Given the description of an element on the screen output the (x, y) to click on. 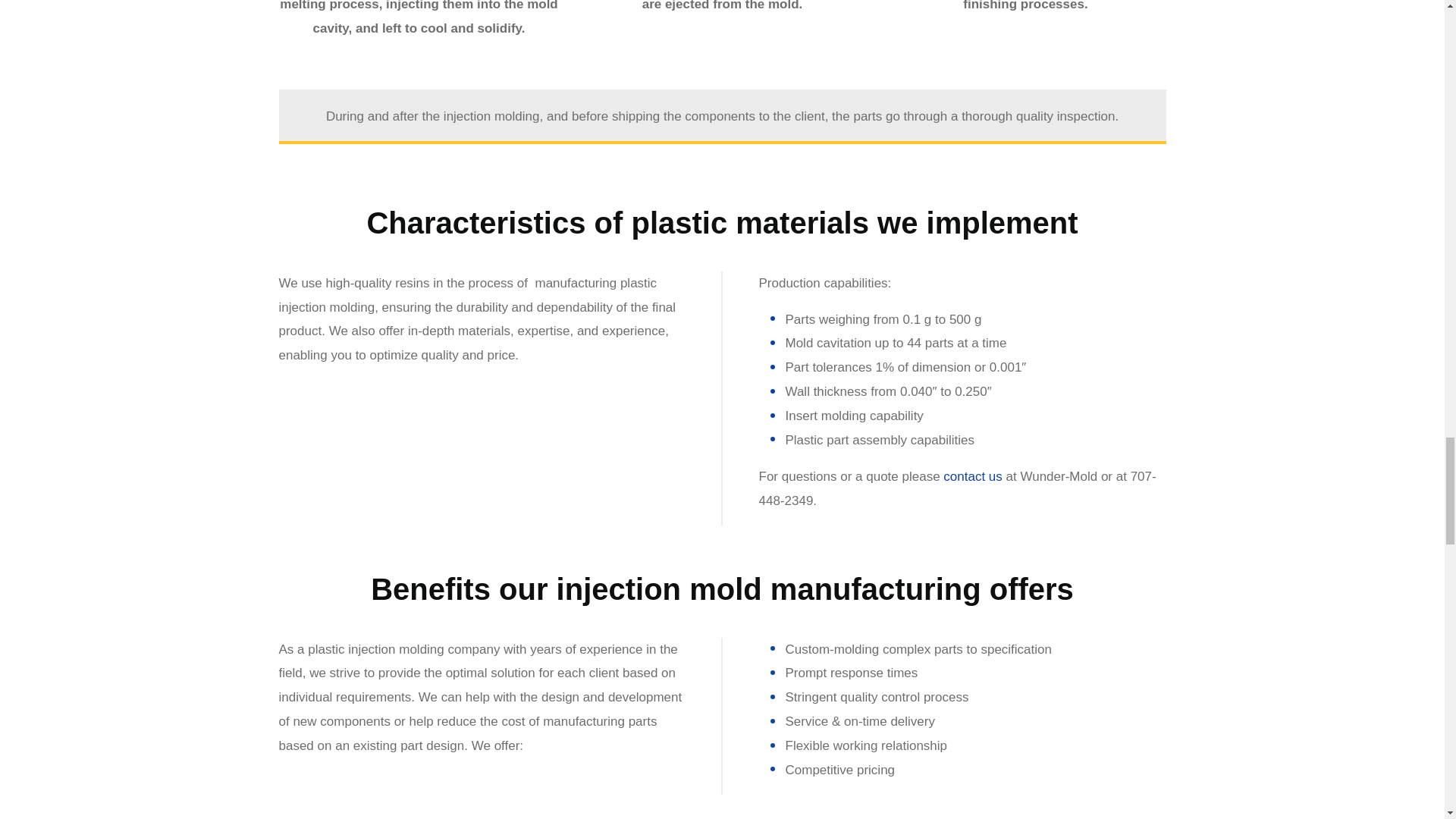
contact us (973, 476)
